Given the description of an element on the screen output the (x, y) to click on. 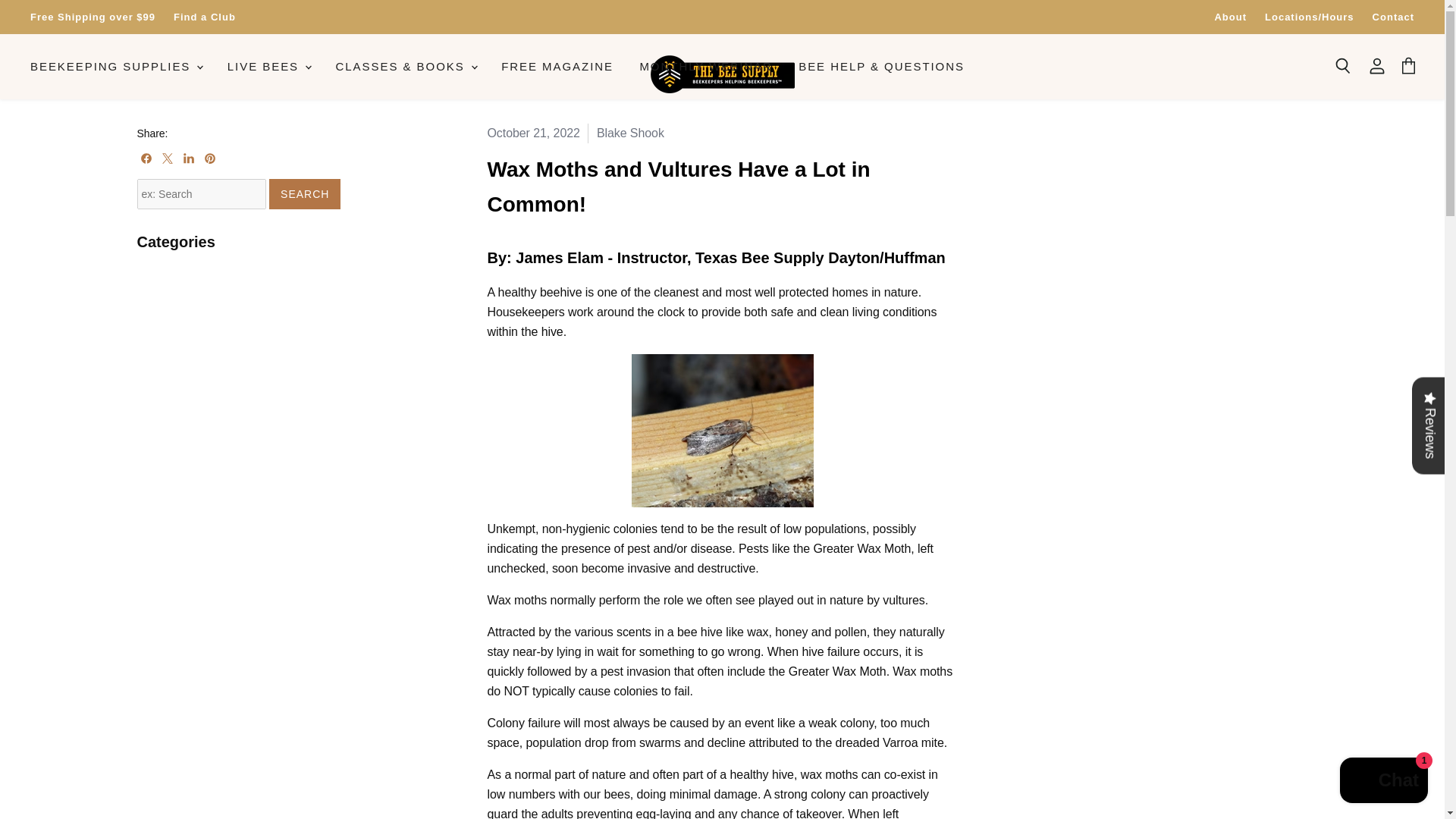
Contact (1393, 17)
BEEKEEPING SUPPLIES (115, 66)
SEARCH (304, 194)
Find a Club (204, 17)
Shopify online store chat (1383, 781)
SEARCH (304, 194)
About (1230, 17)
